Given the description of an element on the screen output the (x, y) to click on. 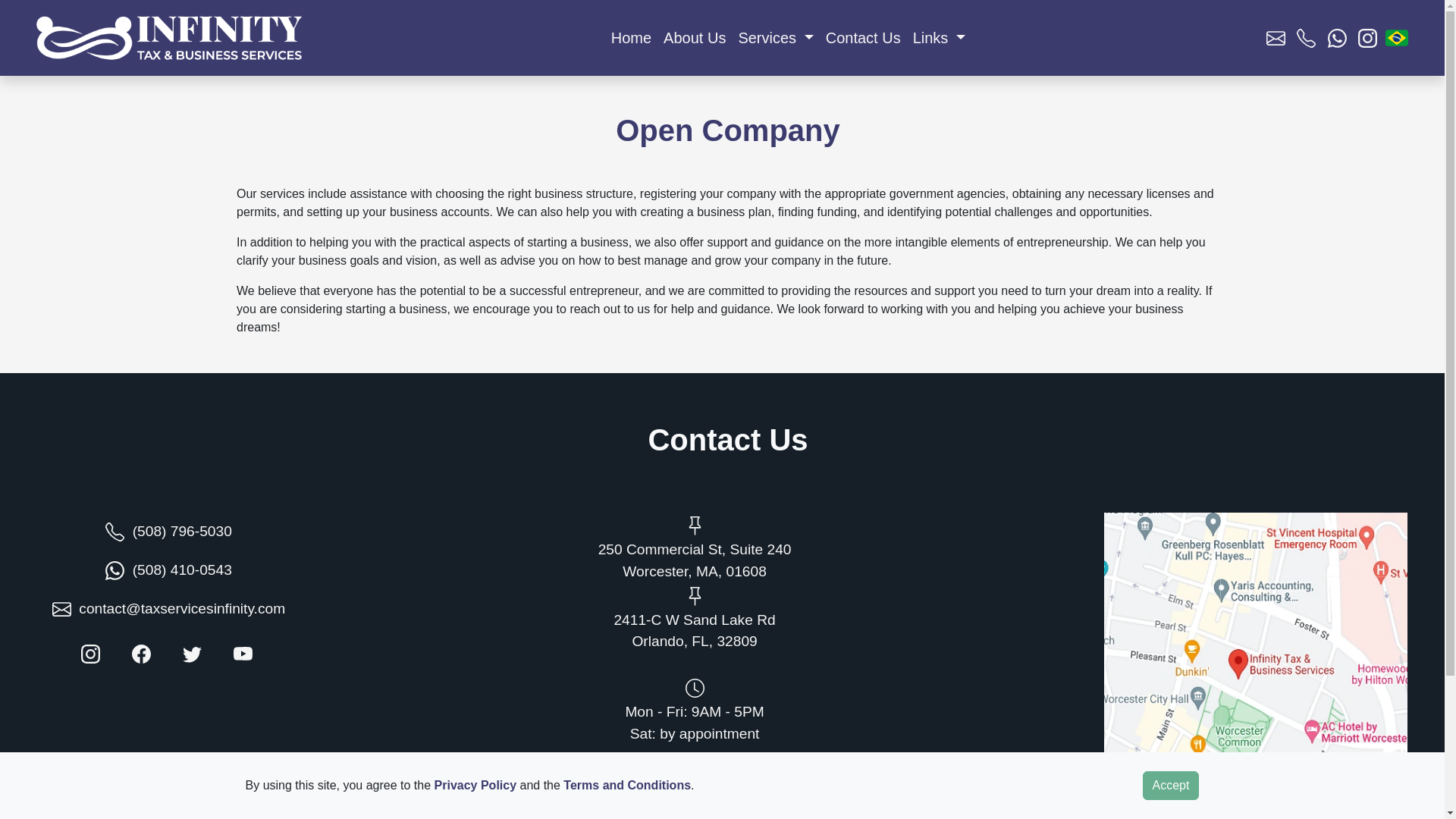
Accept (1170, 785)
Contact Us (863, 37)
About Us (695, 37)
Privacy Policy (474, 784)
Services (775, 37)
Terms and Conditions (626, 784)
Links (939, 37)
Home (631, 37)
